Given the description of an element on the screen output the (x, y) to click on. 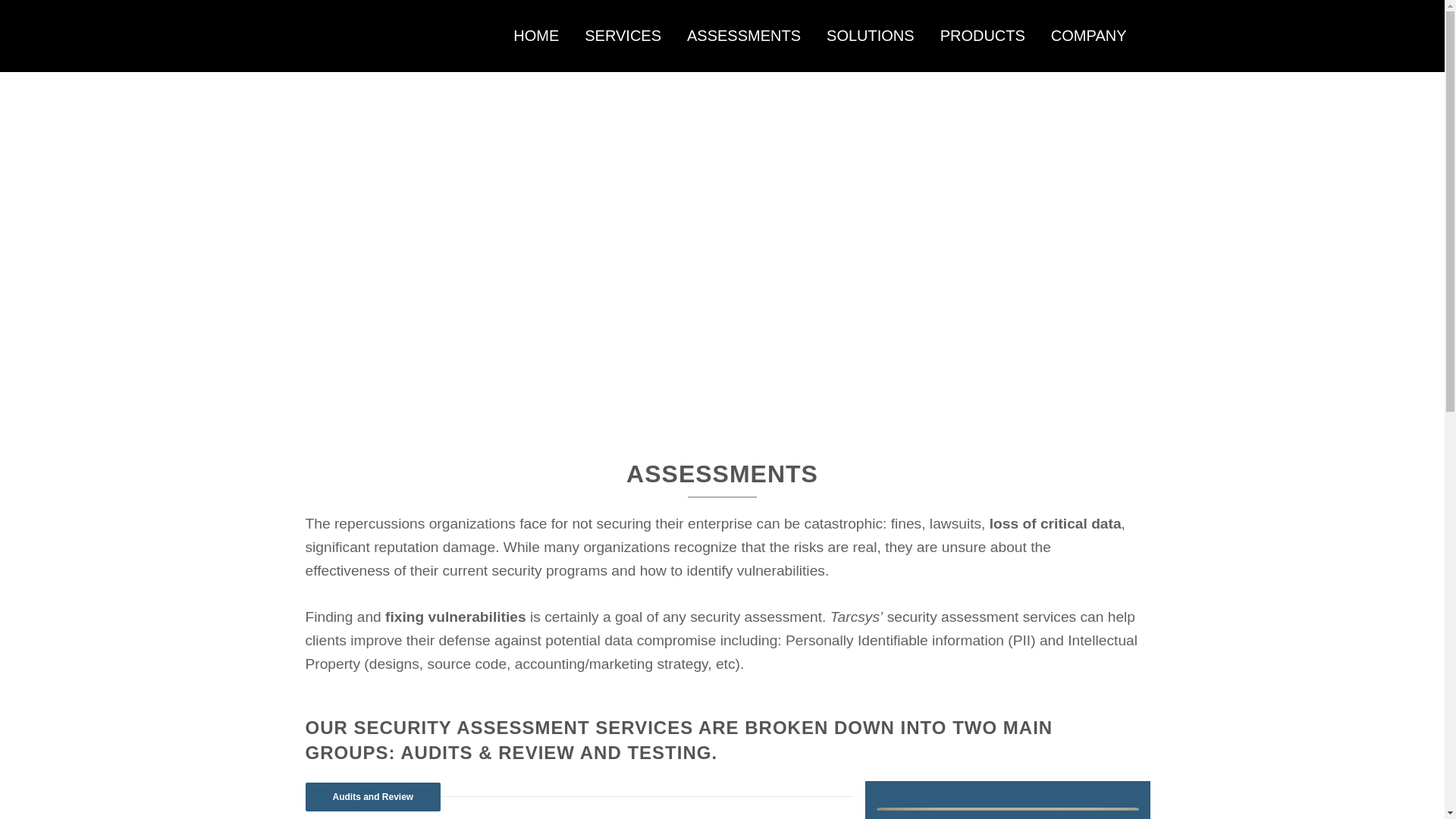
COMPANY (1089, 36)
PRODUCTS (982, 36)
SOLUTIONS (870, 36)
SERVICES (623, 36)
HOME (536, 36)
ASSESSMENTS (743, 36)
Tech Hut Digital Marketing. (485, 755)
Lyon Media Solutions. (449, 744)
